Given the description of an element on the screen output the (x, y) to click on. 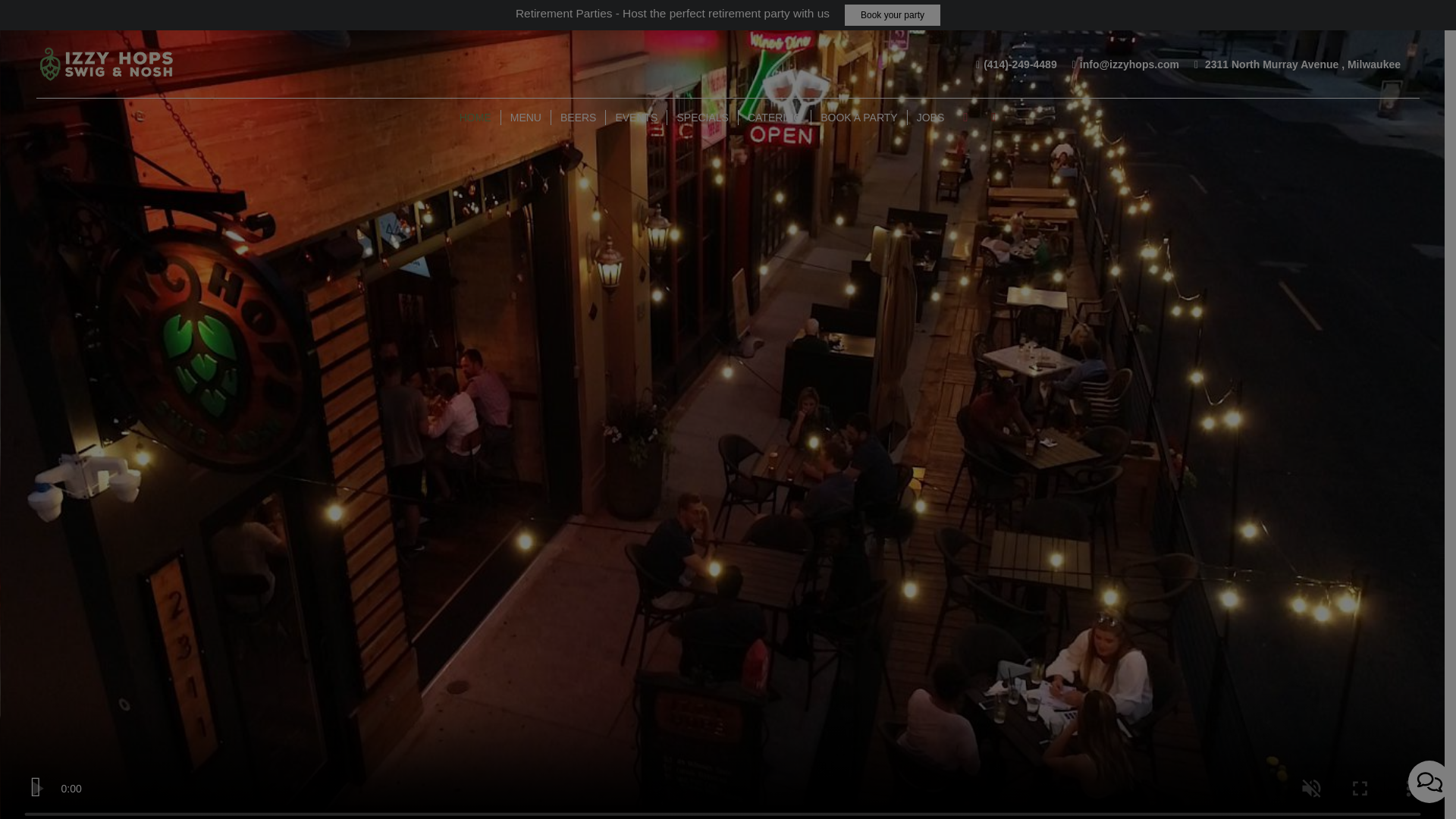
HOME (474, 117)
BOOK A PARTY (858, 117)
2311 North Murray Avenue , Milwaukee (1296, 63)
SPECIALS (702, 117)
JOBS (930, 117)
MENU (525, 117)
CATERING (774, 117)
Book your party (892, 14)
EVENTS (635, 117)
BEERS (578, 117)
